Given the description of an element on the screen output the (x, y) to click on. 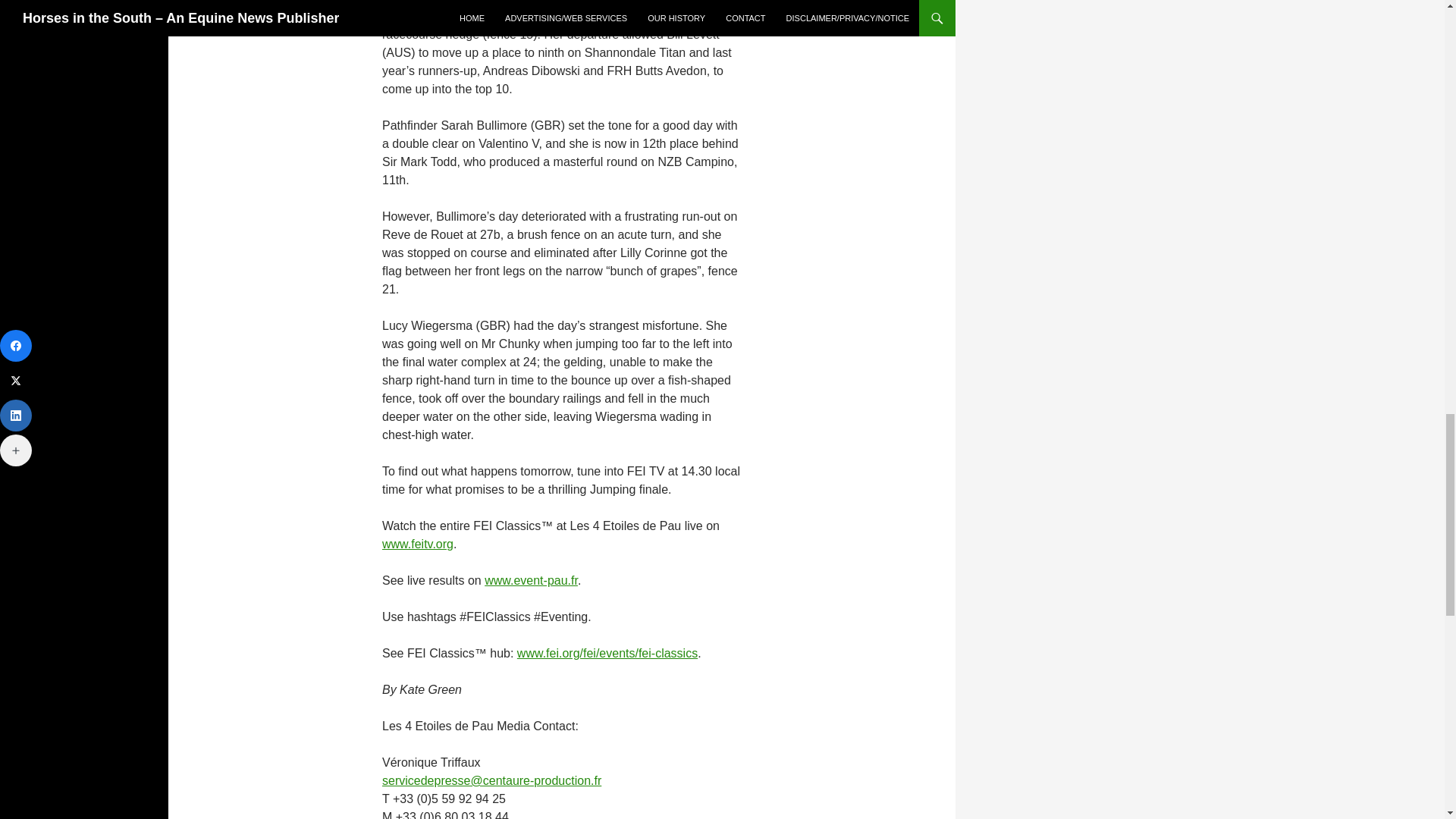
www.event-pau.fr (531, 580)
www.feitv.org (416, 543)
